Given the description of an element on the screen output the (x, y) to click on. 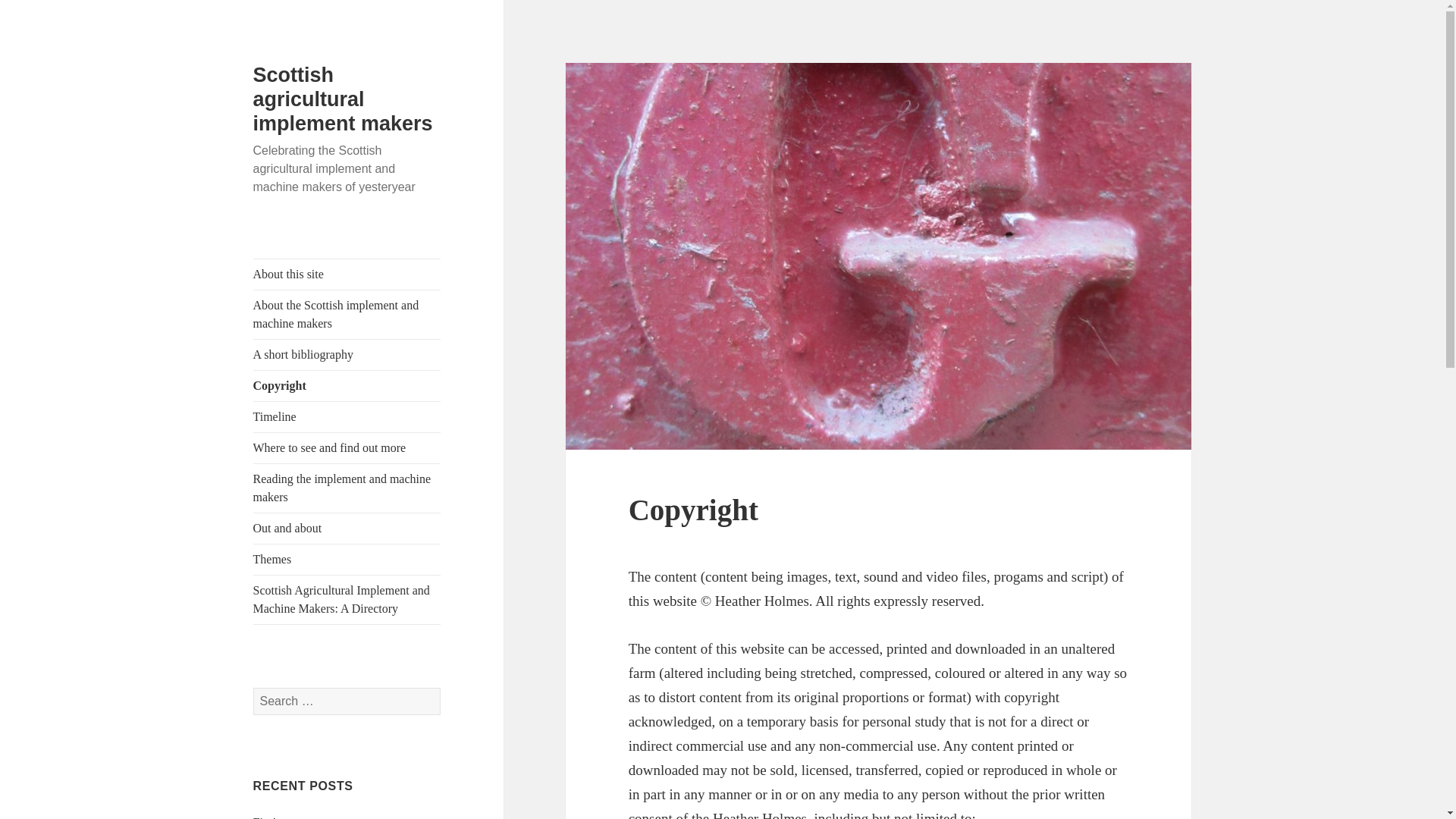
About the Scottish implement and machine makers (347, 314)
Timeline (347, 417)
Out and about (347, 528)
Themes (347, 559)
A short bibliography (347, 354)
About this site (347, 274)
Reading the implement and machine makers (347, 488)
Where to see and find out more (347, 448)
Copyright (347, 386)
Scottish agricultural implement makers (342, 99)
Fire! (264, 817)
